Given the description of an element on the screen output the (x, y) to click on. 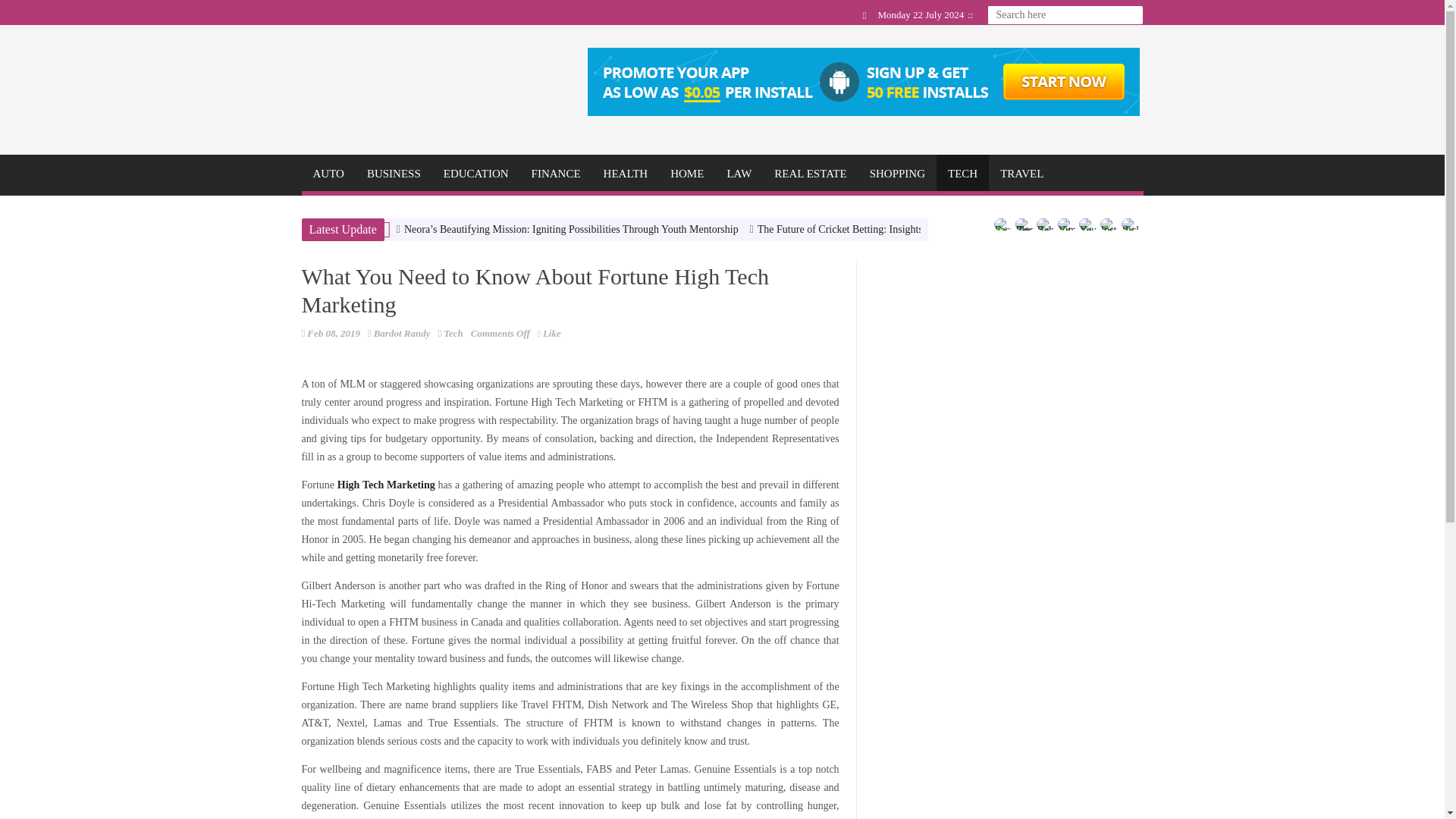
EDUCATION (475, 173)
HEALTH (625, 173)
Like (548, 333)
REAL ESTATE (809, 173)
LAW (738, 173)
TRAVEL (1021, 173)
Posts by Bardot Randy (402, 333)
FINANCE (555, 173)
BUSINESS (393, 173)
AUTO (328, 173)
HOME (686, 173)
SHOPPING (897, 173)
TECH (962, 173)
